Given the description of an element on the screen output the (x, y) to click on. 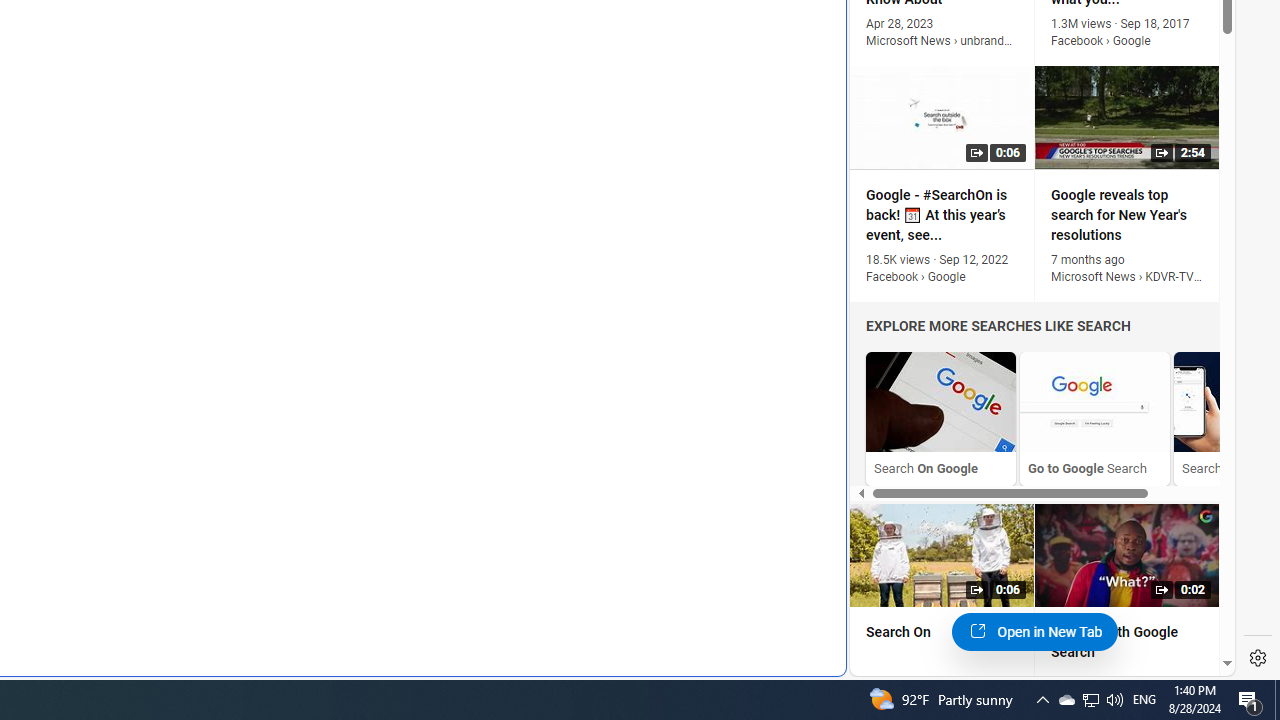
Go to Google Search (1094, 401)
Settings (1258, 658)
Go to Google Search (1094, 418)
Search On Google (941, 401)
Search On Google (941, 418)
